Given the description of an element on the screen output the (x, y) to click on. 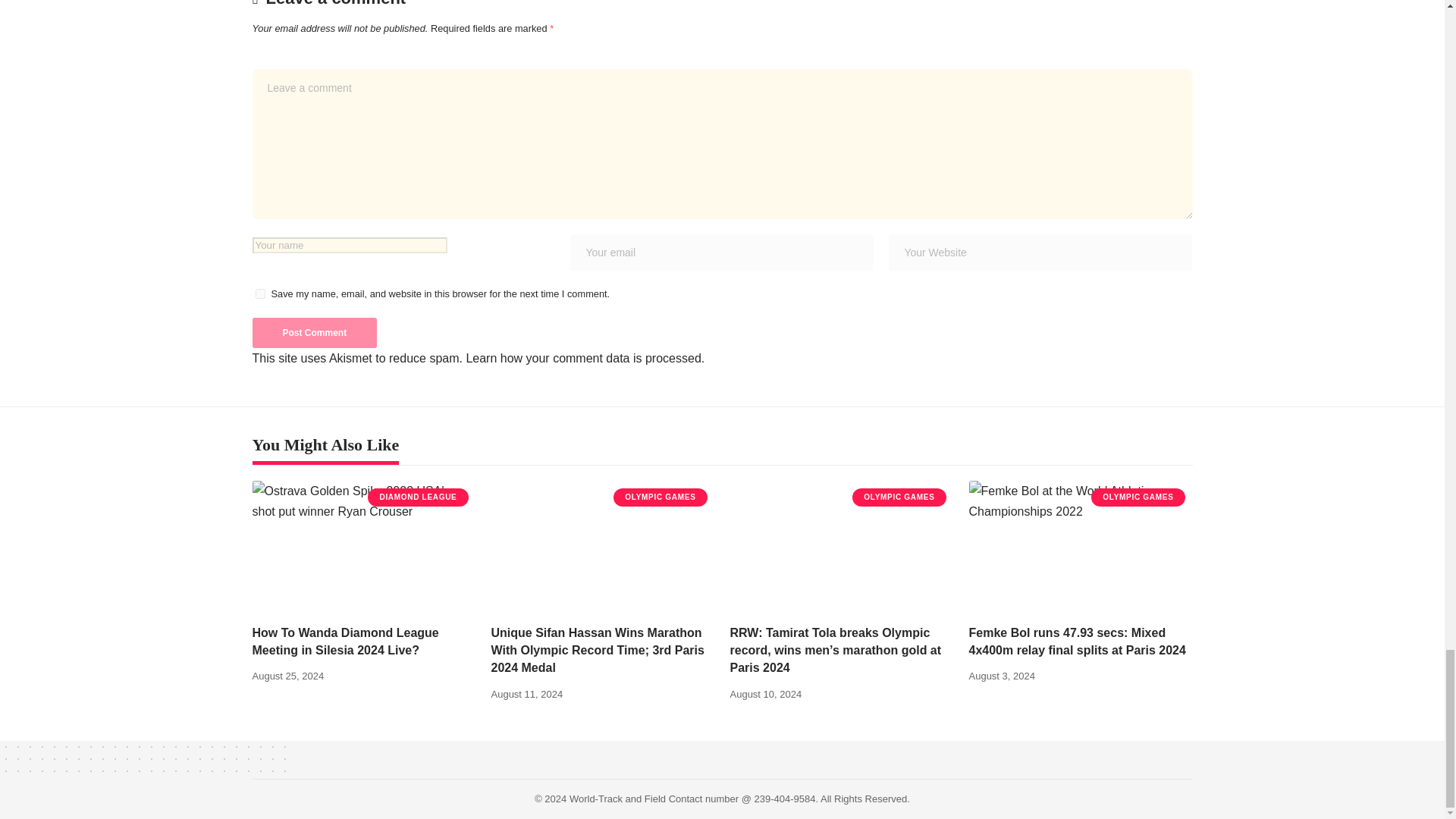
How To Wanda Diamond League Meeting in Silesia 2024 Live? (363, 547)
Post Comment (314, 332)
yes (259, 293)
